Given the description of an element on the screen output the (x, y) to click on. 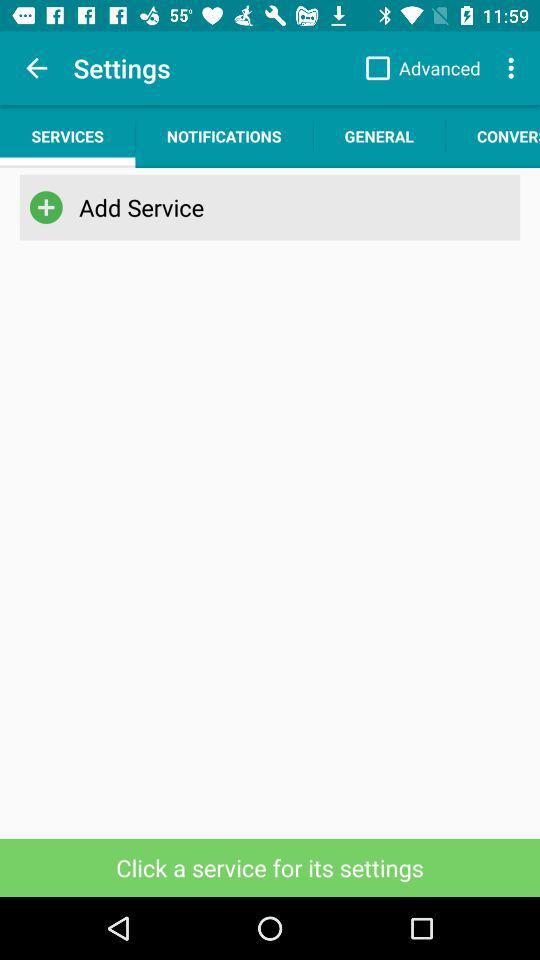
open advanced checkbox (418, 68)
